Given the description of an element on the screen output the (x, y) to click on. 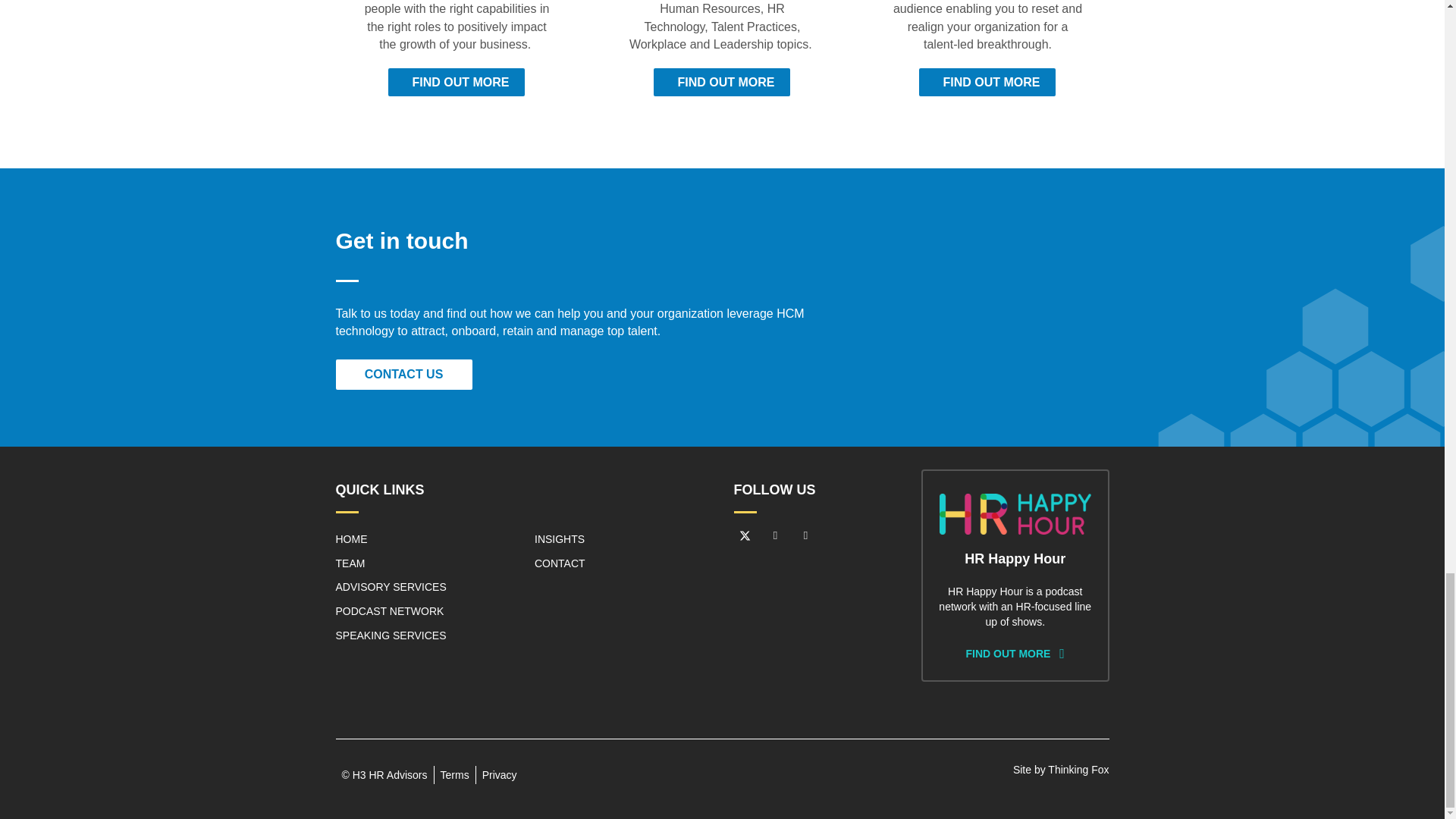
Instagram (805, 535)
LinkedIn (775, 535)
